Given the description of an element on the screen output the (x, y) to click on. 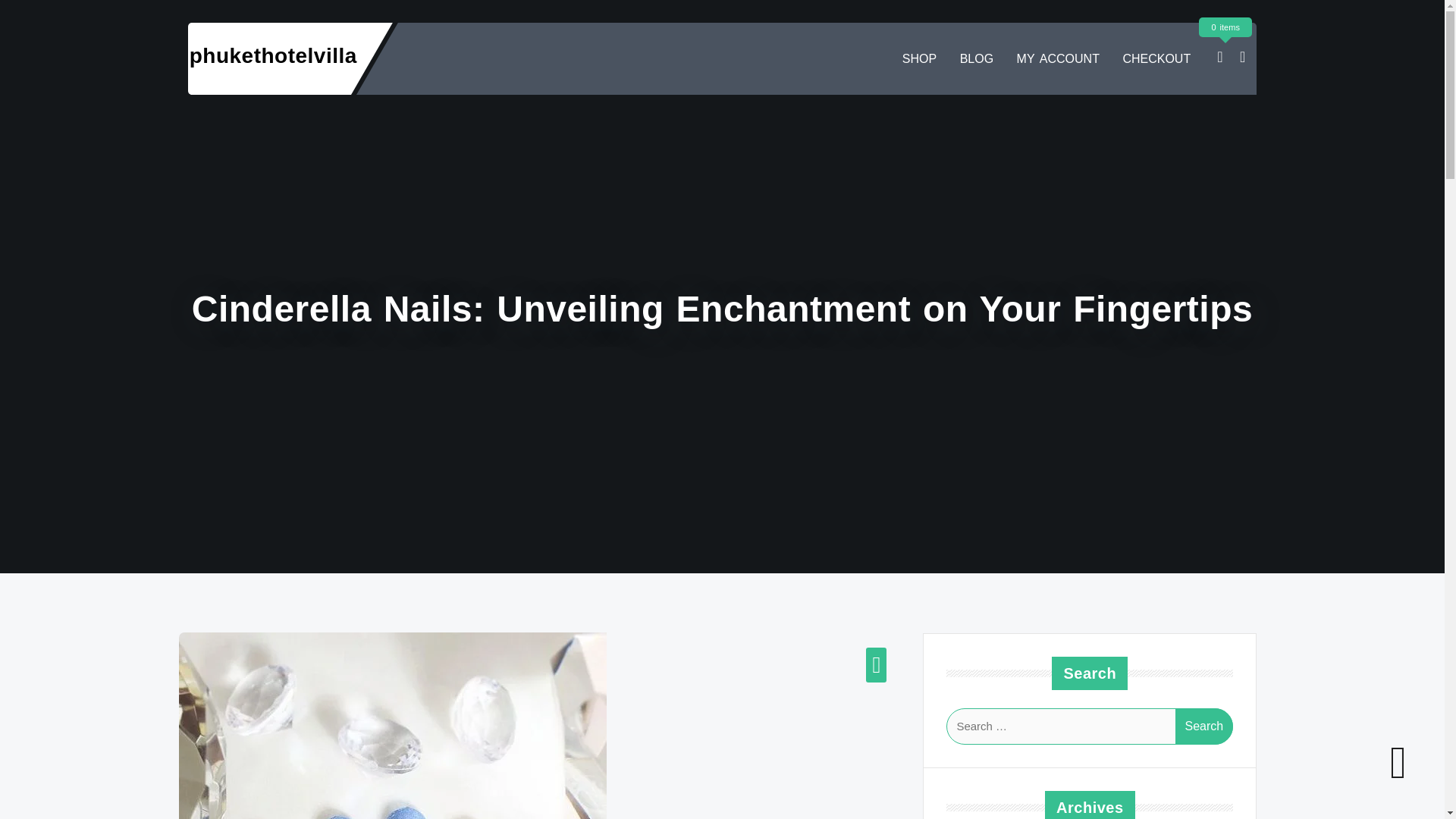
BLOG (976, 58)
SHOP (918, 58)
phukethotelvilla (272, 55)
Search (1203, 726)
CHECKOUT (1156, 58)
MY ACCOUNT (1057, 58)
Search (1203, 726)
Search (1203, 726)
